Given the description of an element on the screen output the (x, y) to click on. 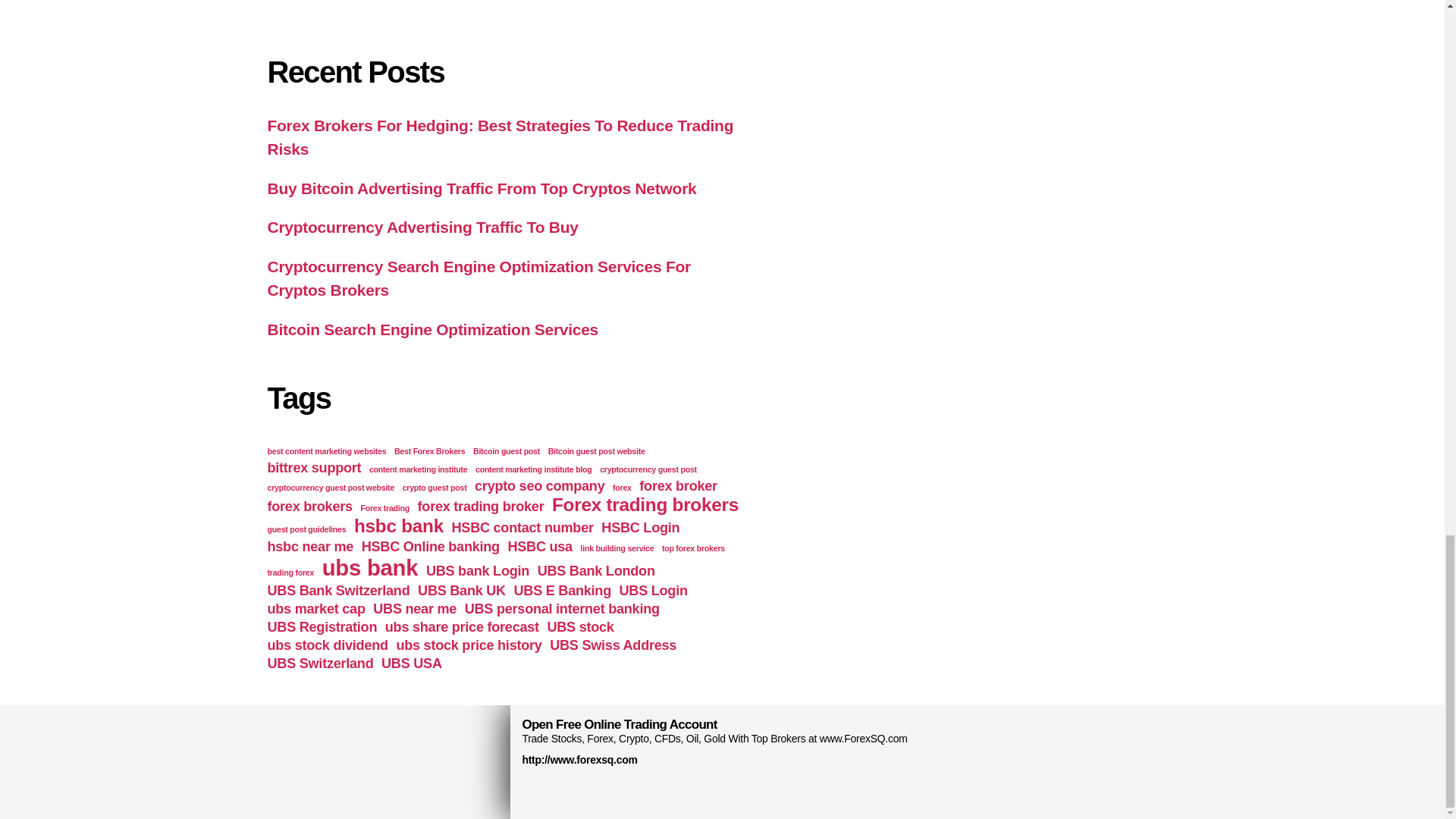
content marketing institute (418, 469)
crypto guest post (435, 487)
Cryptocurrency Advertising Traffic To Buy (422, 226)
Bitcoin guest post (506, 450)
bittrex support (313, 467)
Bitcoin guest post website (596, 450)
Buy Bitcoin Advertising Traffic From Top Cryptos Network (480, 188)
Bitcoin Search Engine Optimization Services (432, 329)
cryptocurrency guest post website (330, 487)
Best Forex Brokers (429, 450)
cryptocurrency guest post (648, 469)
content marketing institute blog (534, 469)
best content marketing websites (325, 450)
